Given the description of an element on the screen output the (x, y) to click on. 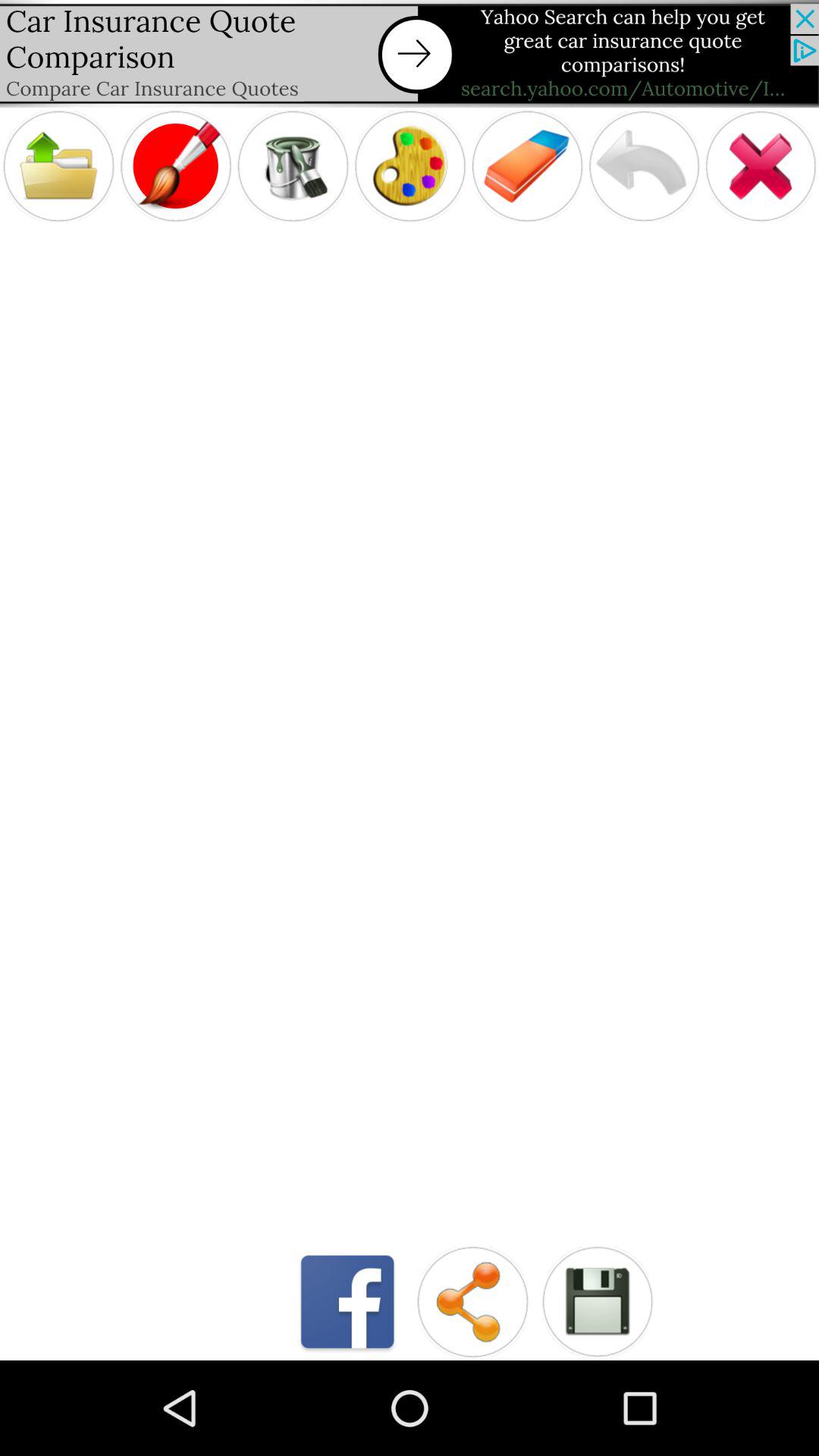
ereser (526, 165)
